Given the description of an element on the screen output the (x, y) to click on. 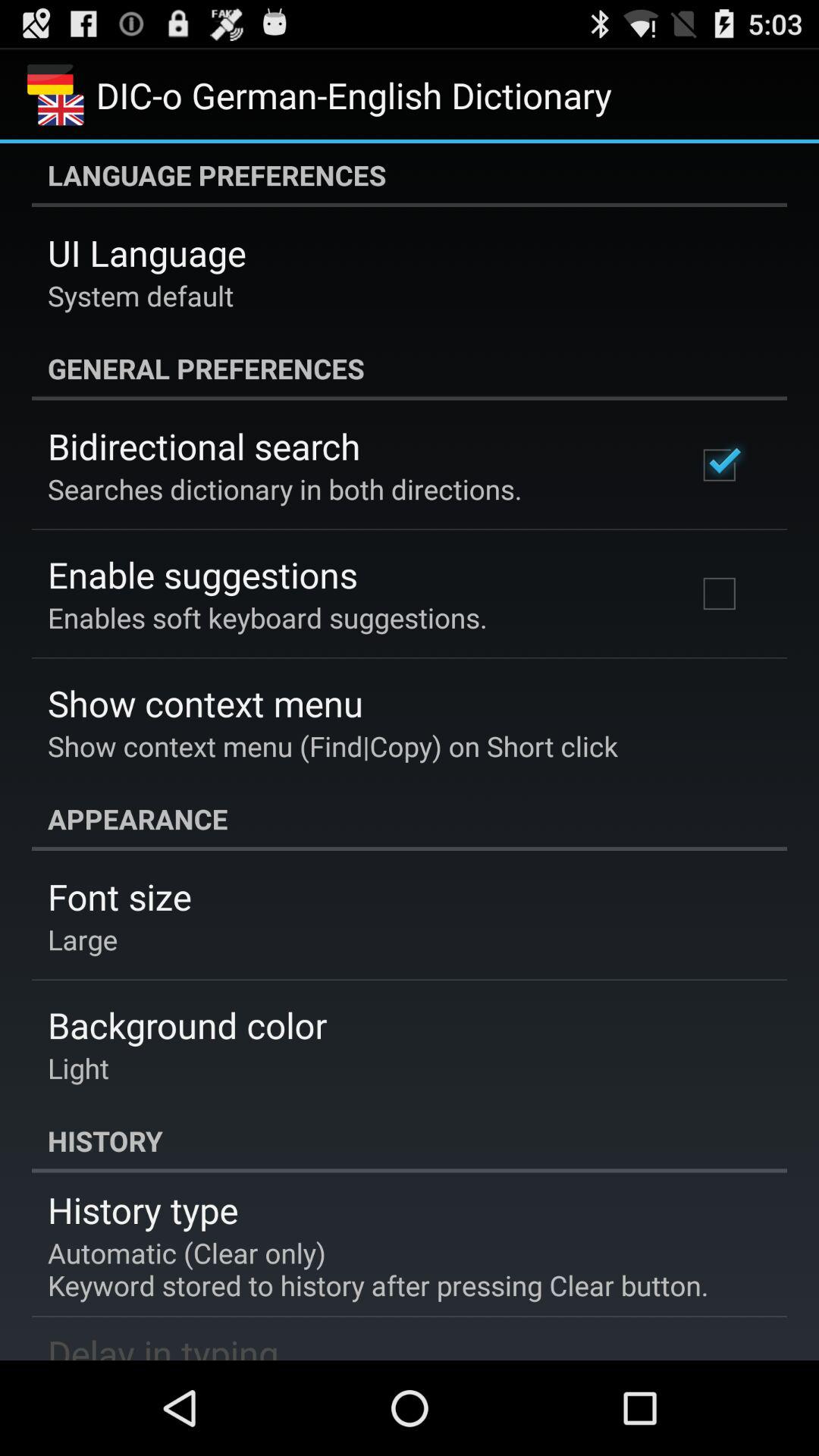
open the app below history item (142, 1209)
